Given the description of an element on the screen output the (x, y) to click on. 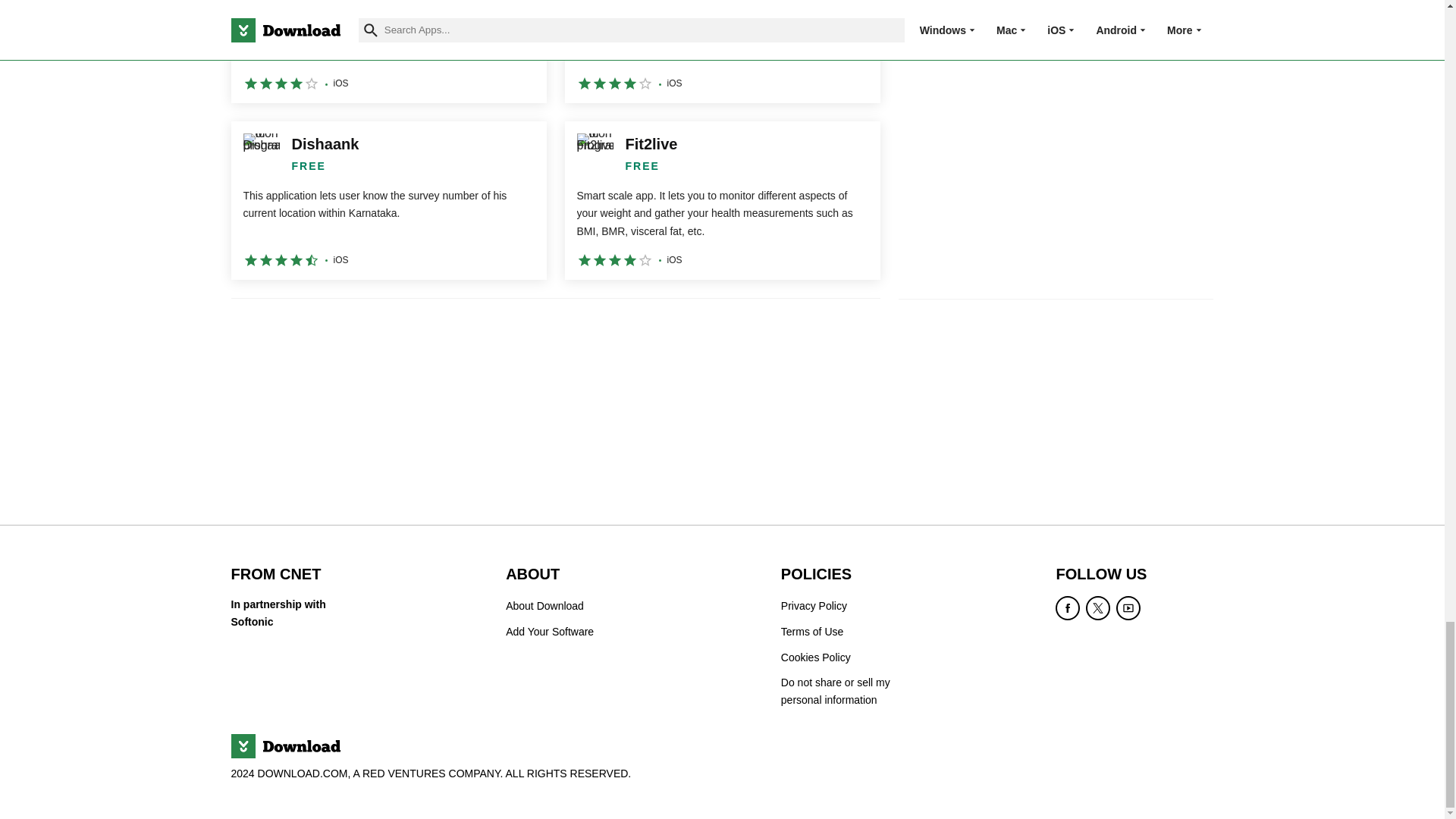
Dishaank (388, 200)
Fit2live (721, 200)
Become a Facebook fan of Download.com (1067, 607)
AutoZoners (388, 51)
Cisco Packet Tracer Mobile (721, 51)
Download.com (284, 745)
